Given the description of an element on the screen output the (x, y) to click on. 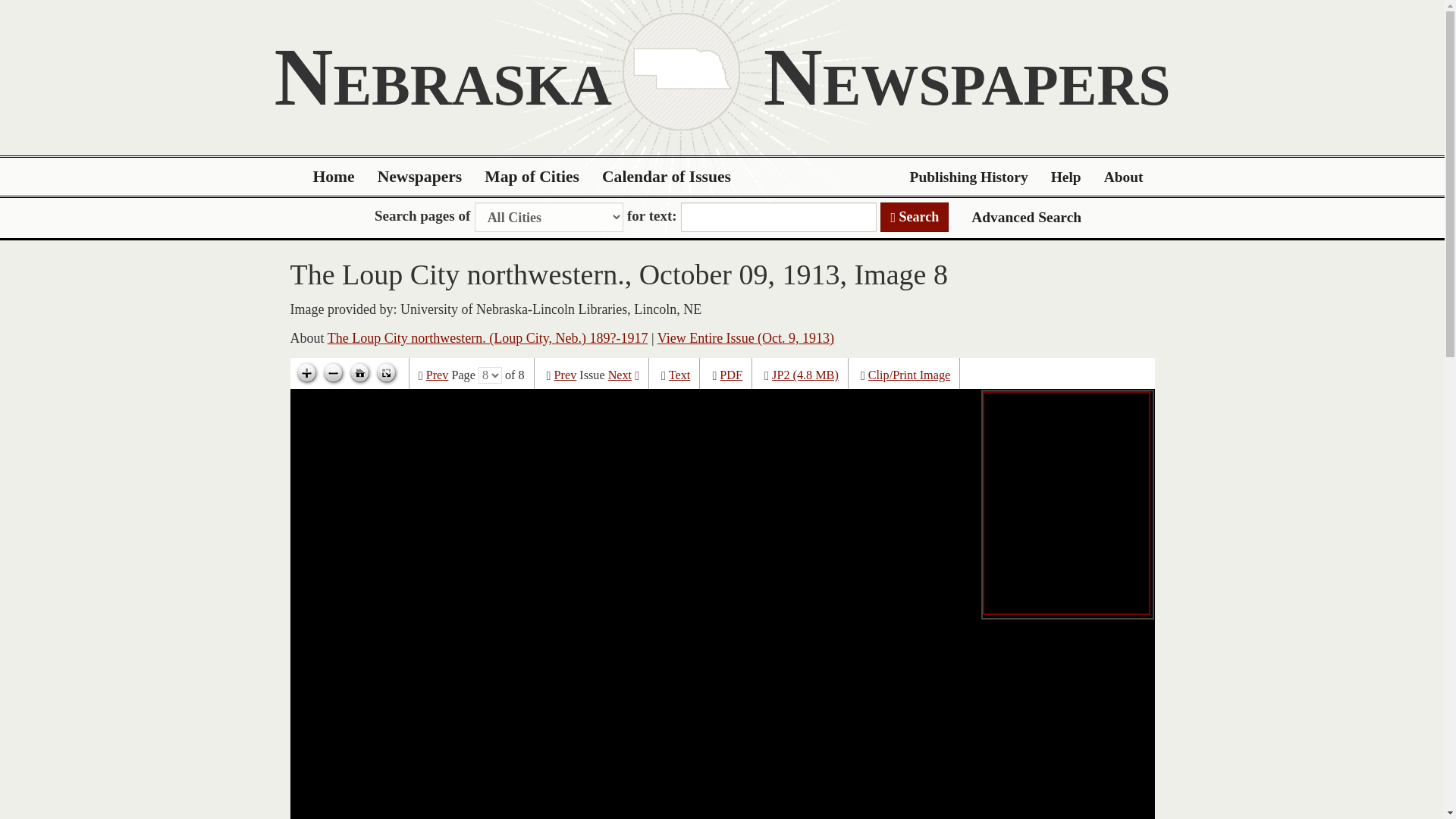
Toggle full page (385, 373)
Publishing History (968, 176)
Prev (565, 375)
Search (914, 217)
Go home (359, 373)
Help (1066, 176)
Next (619, 375)
Advanced Search (1026, 216)
Home (333, 176)
Prev (437, 375)
Zoom in (307, 373)
Text (679, 375)
Newspapers (420, 176)
About (1123, 176)
Map of Cities (532, 176)
